Given the description of an element on the screen output the (x, y) to click on. 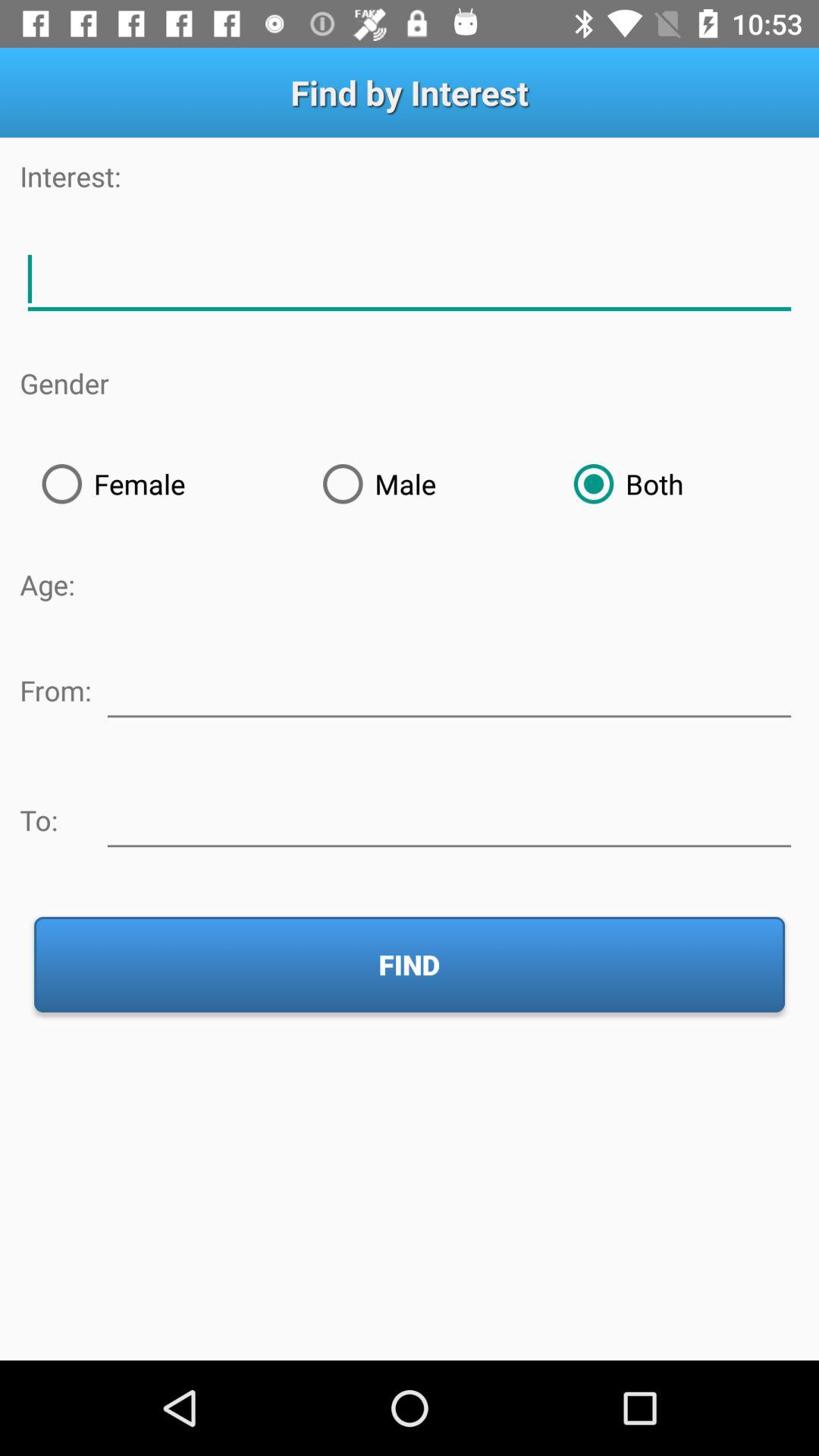
recipient information (449, 817)
